Given the description of an element on the screen output the (x, y) to click on. 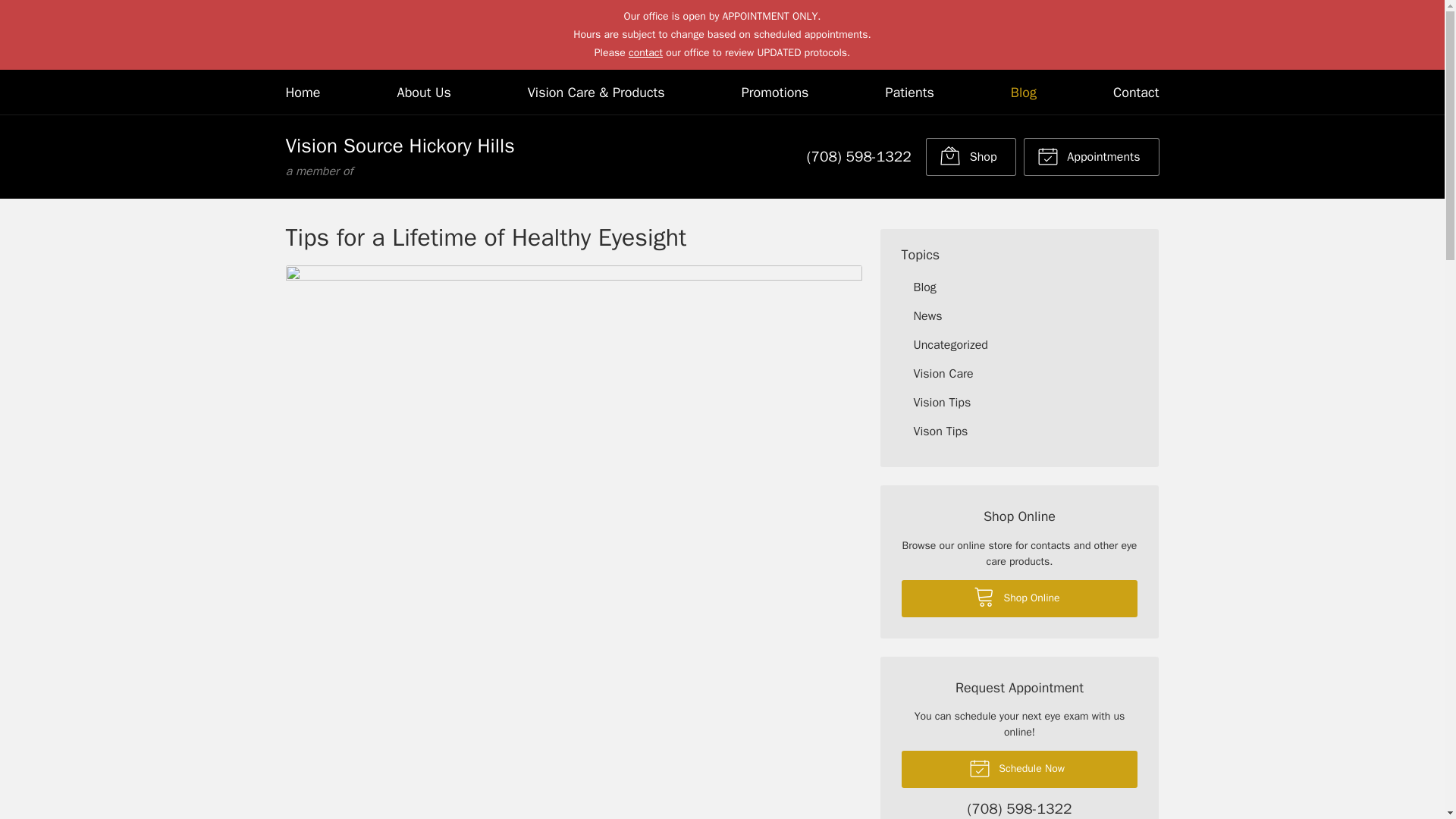
contact (645, 51)
Call practice (1018, 809)
Patients (909, 91)
About Us (424, 91)
Shop Online (971, 157)
Promotions (775, 91)
Home (399, 156)
Call practice (302, 91)
Request Appointment (858, 157)
Shop Online (1090, 157)
Appointments (1019, 598)
Blog (1090, 157)
Contact (1023, 91)
